Given the description of an element on the screen output the (x, y) to click on. 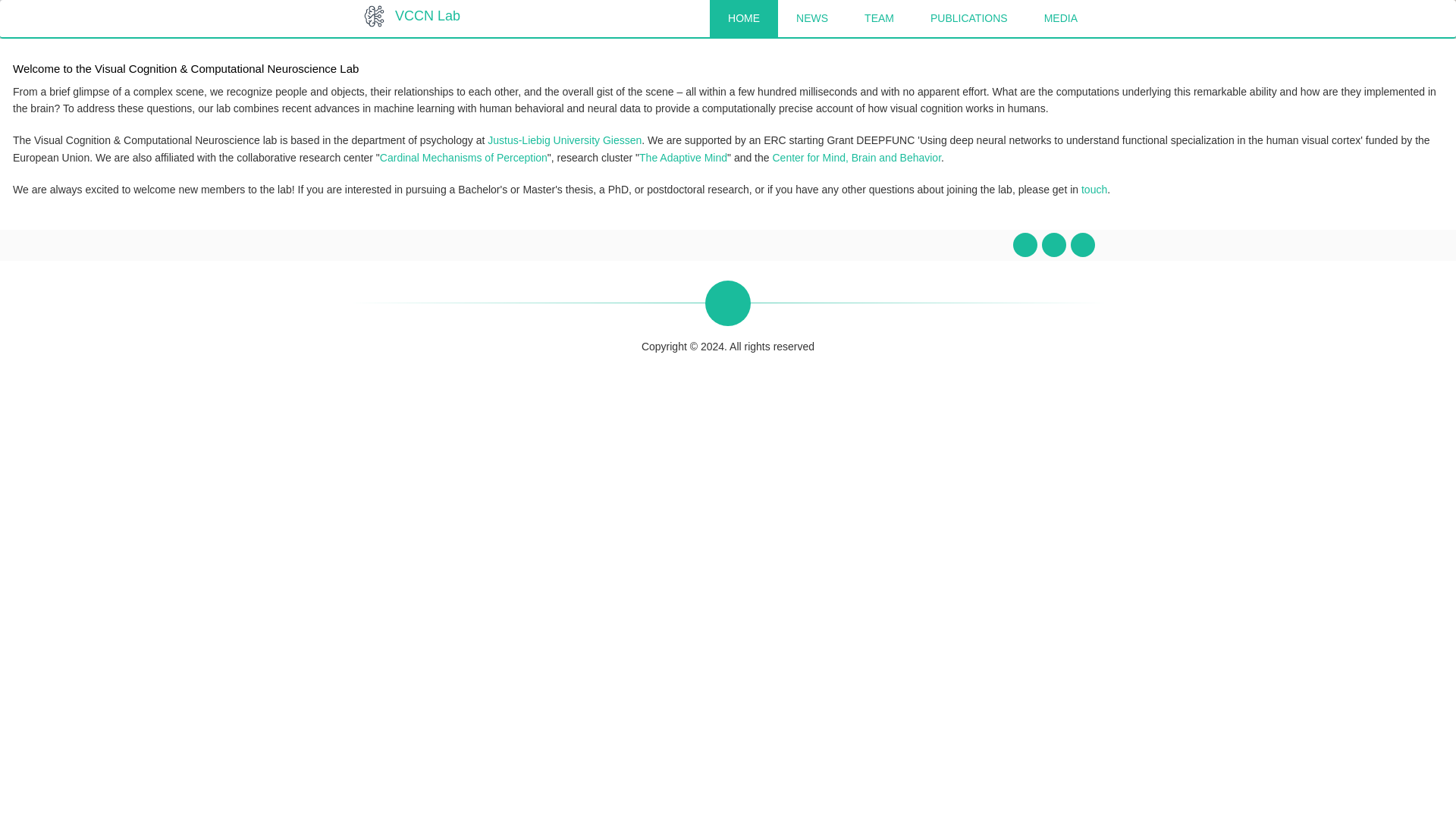
MEDIA (1061, 18)
LinkedIn (1082, 244)
Cardinal Mechanisms of Perception (463, 157)
Twitter (1053, 244)
The Adaptive Mind (682, 157)
Home (427, 15)
VCCN Lab (427, 15)
touch (1093, 189)
HOME (743, 18)
Justus-Liebig University Giessen (564, 140)
Home (373, 15)
TEAM (878, 18)
PUBLICATIONS (969, 18)
Center for Mind, Brain and Behavior (855, 157)
